Given the description of an element on the screen output the (x, y) to click on. 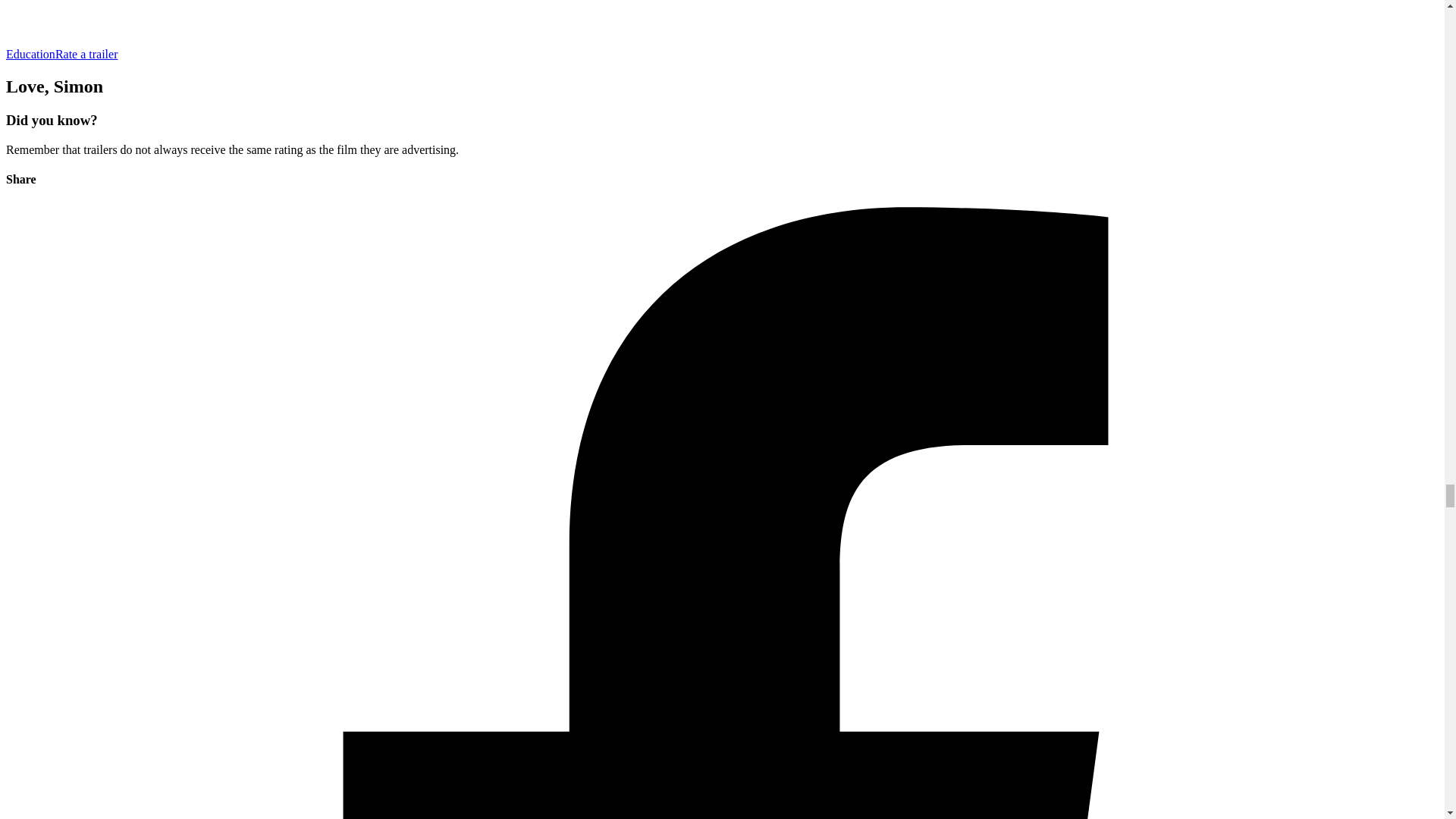
Education (30, 53)
Rate a trailer (86, 53)
